Given the description of an element on the screen output the (x, y) to click on. 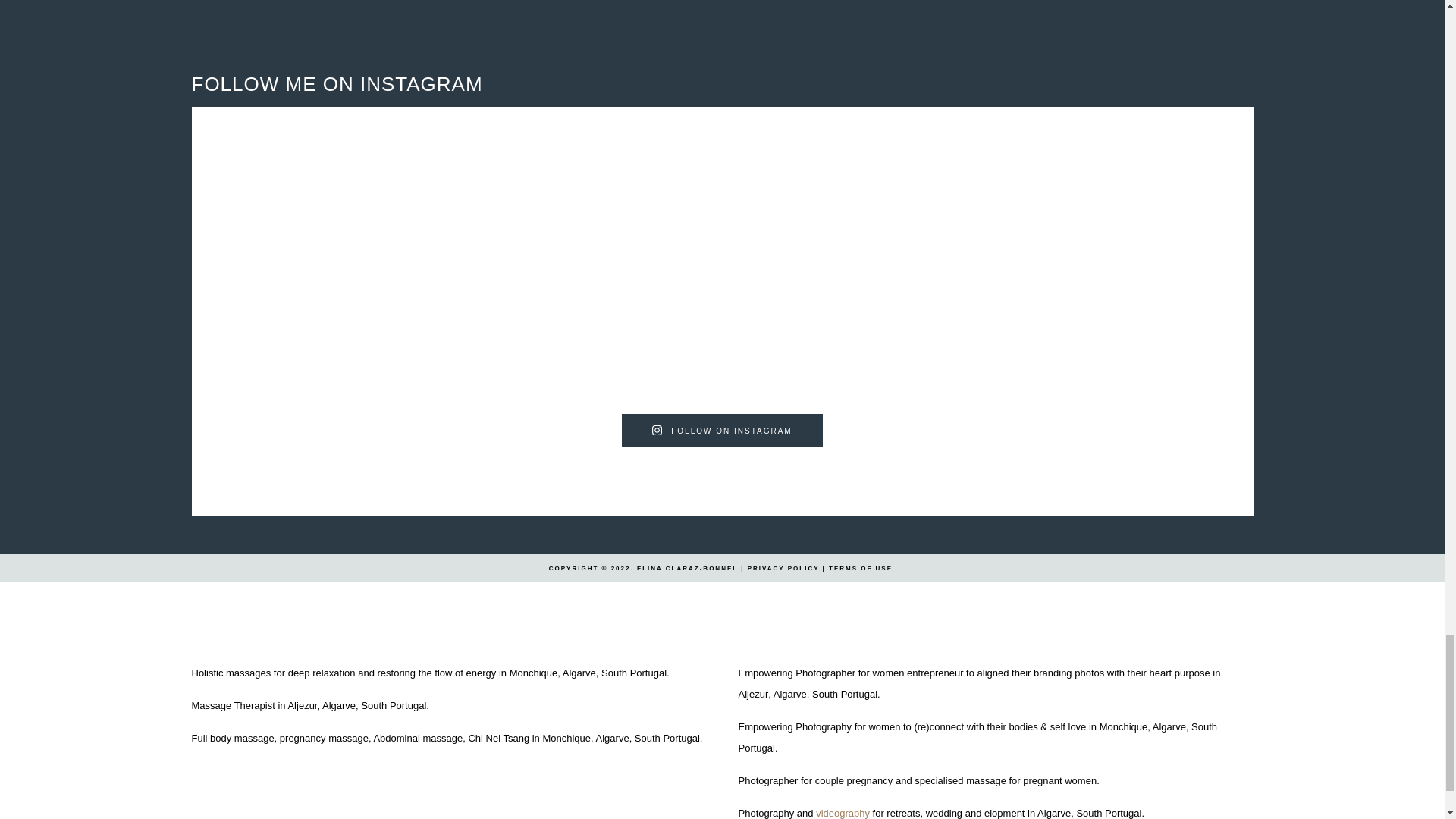
Portugal (1123, 813)
Monchique (1123, 726)
deep relaxation (321, 672)
Aljezur (753, 694)
Monchique (533, 672)
Aljezur (301, 705)
videography (842, 813)
FOLLOW ON INSTAGRAM (721, 430)
